Given the description of an element on the screen output the (x, y) to click on. 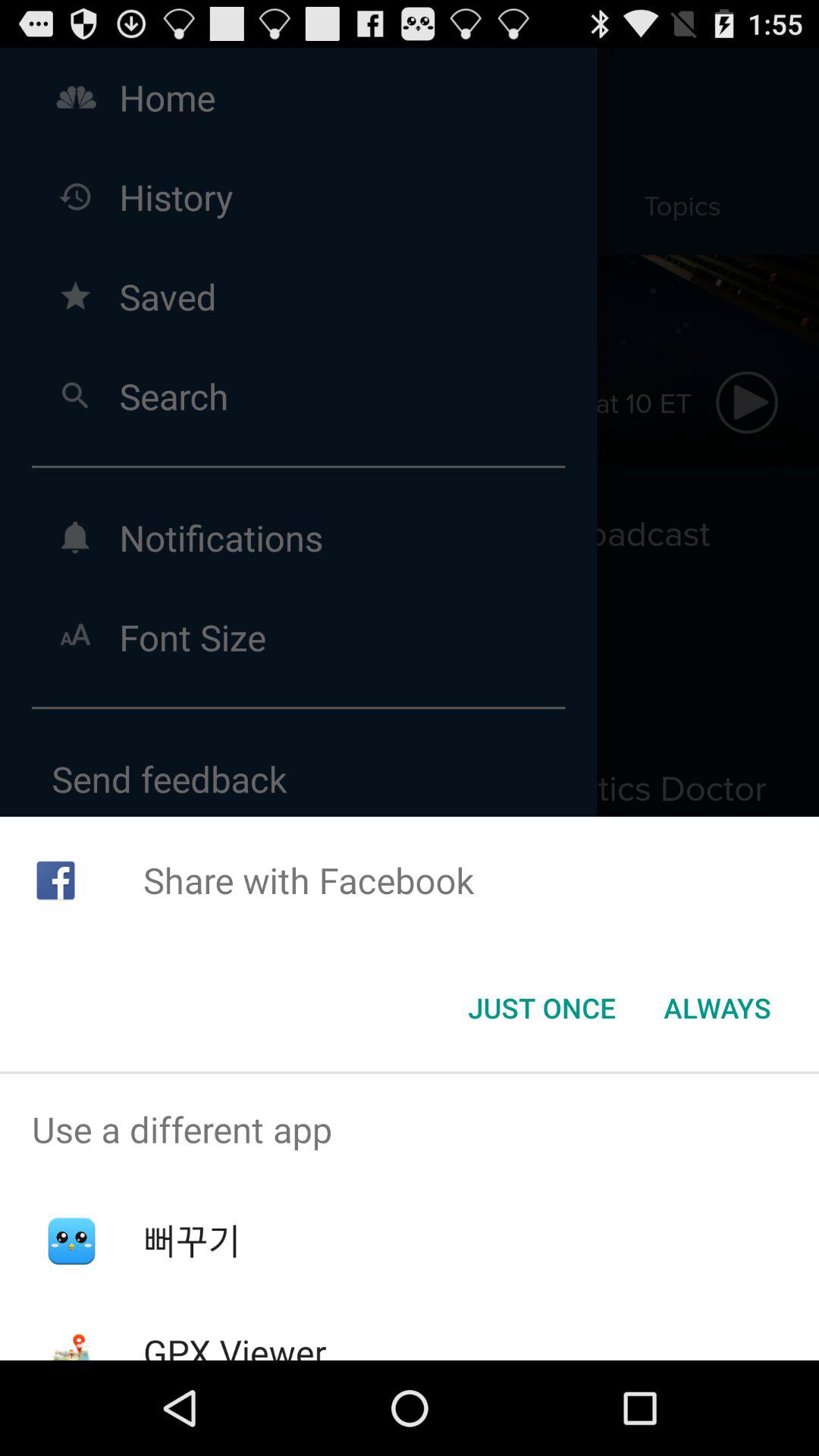
click always button (717, 1007)
